Given the description of an element on the screen output the (x, y) to click on. 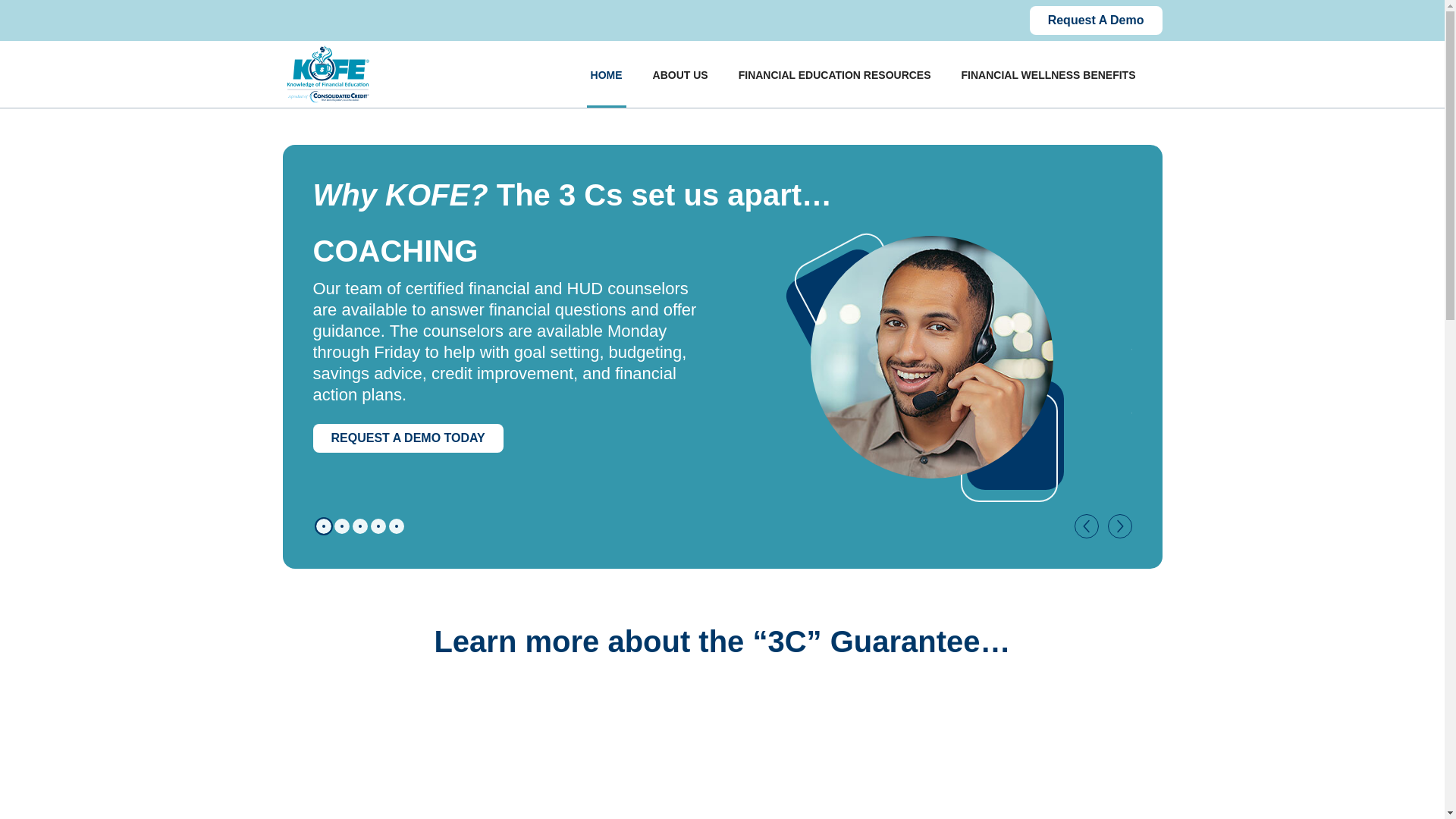
REQUEST A DEMO TODAY (407, 438)
Knowledge of Financial Education (721, 757)
ABOUT US (680, 73)
FINANCIAL WELLNESS BENEFITS (1049, 73)
FINANCIAL EDUCATION RESOURCES (834, 73)
KOFE (327, 73)
Request A Demo (1095, 20)
